Given the description of an element on the screen output the (x, y) to click on. 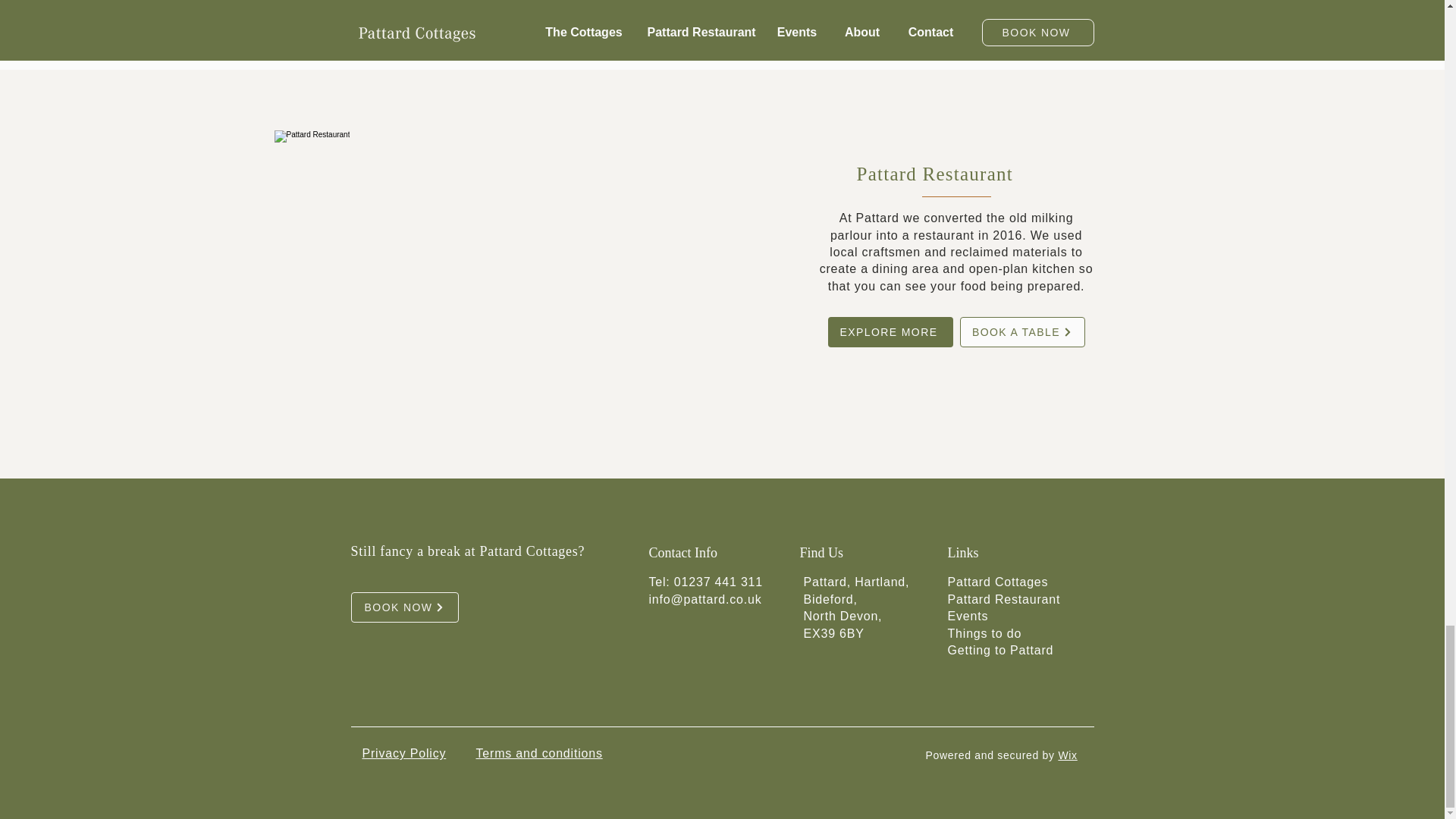
Getting to Pattard (1000, 649)
Wix (1067, 755)
Events  (969, 615)
BOOK NOW (404, 607)
Things to do (984, 633)
Terms and conditions (539, 753)
EXPLORE MORE (890, 331)
Pattard Cottages (997, 581)
BOOK A TABLE (1021, 331)
DISCOVER (406, 10)
Pattard Restaurant (1004, 599)
Privacy Policy (404, 753)
